Given the description of an element on the screen output the (x, y) to click on. 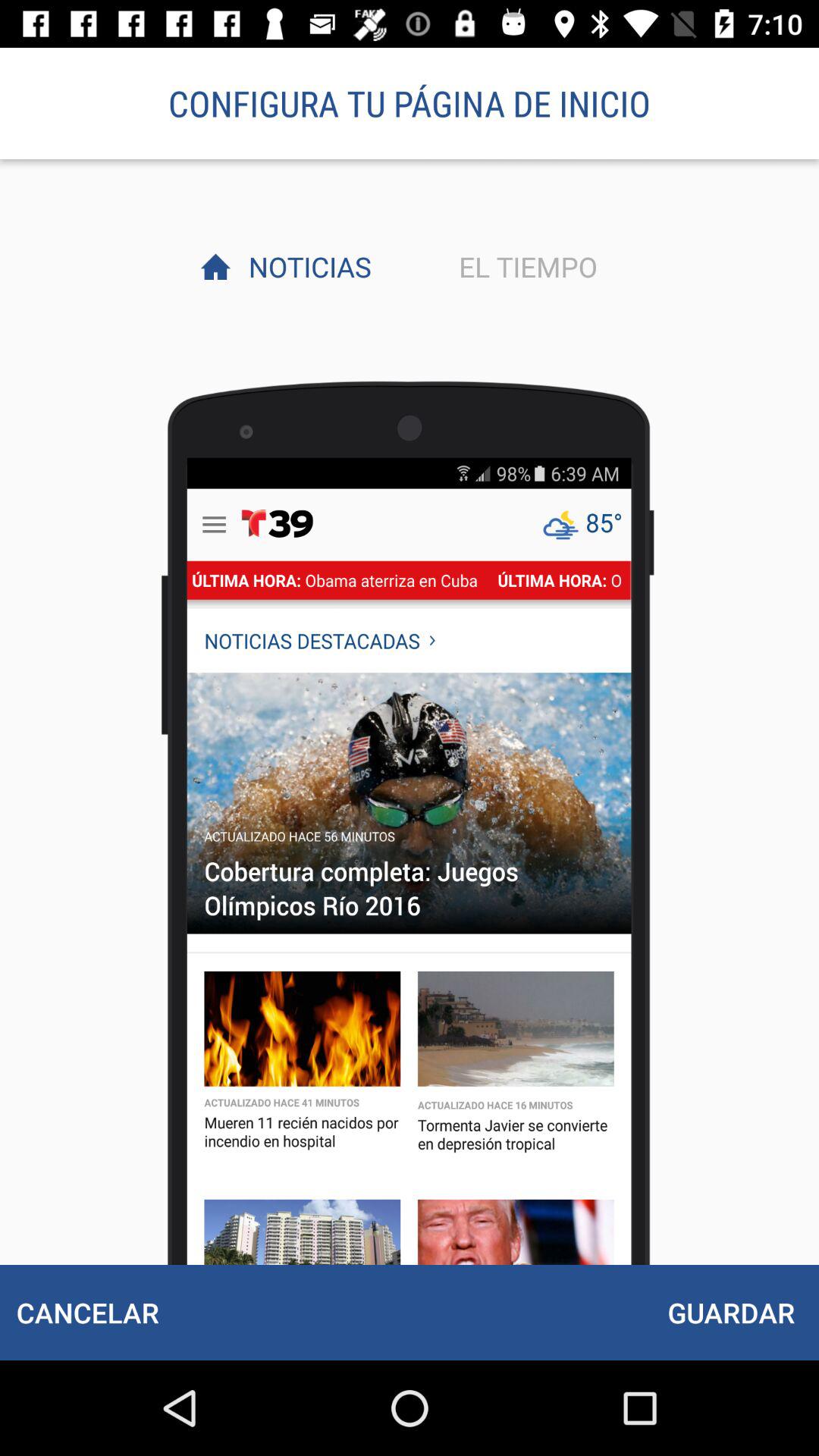
turn on item at the bottom left corner (87, 1312)
